Given the description of an element on the screen output the (x, y) to click on. 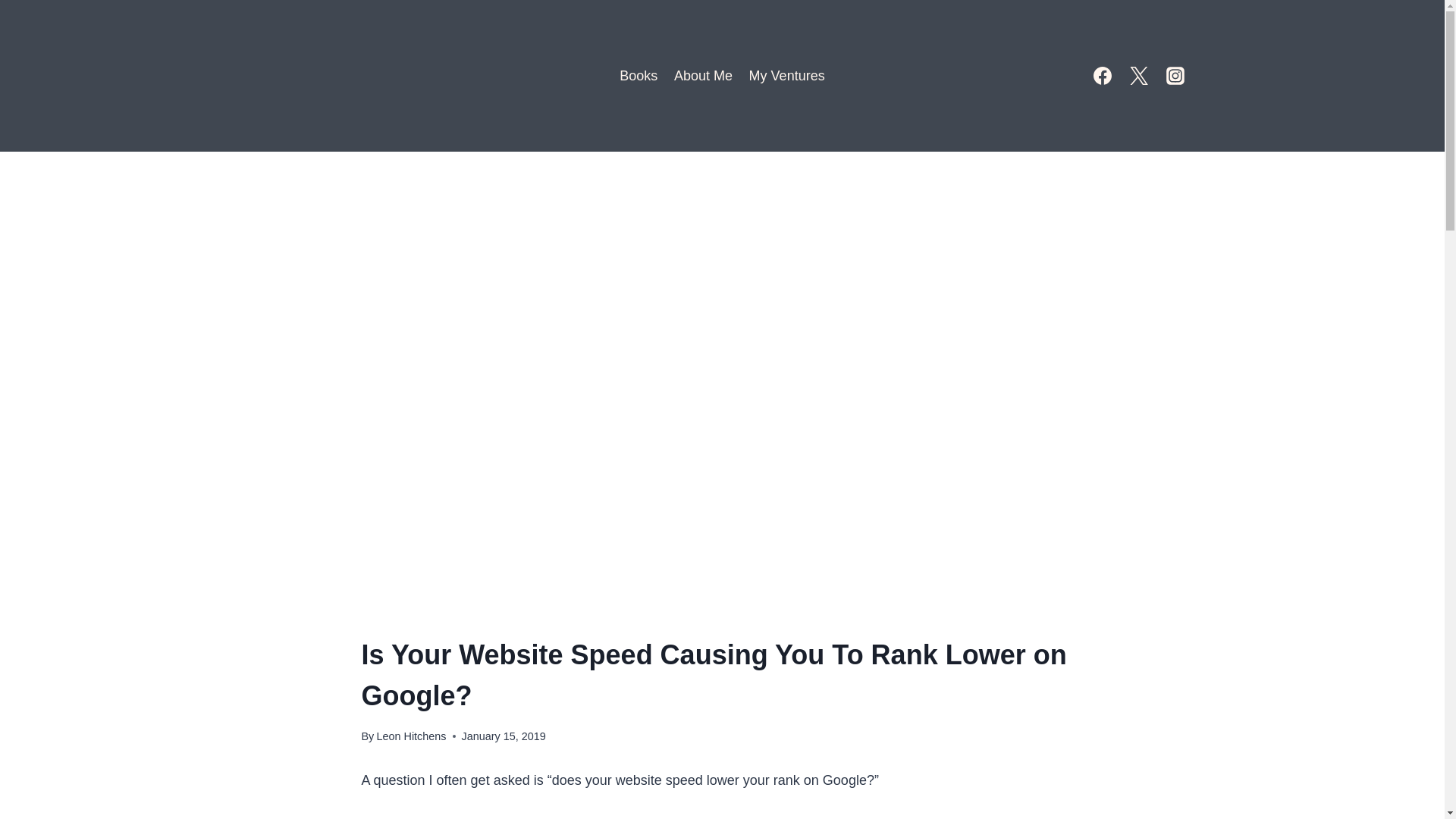
My Ventures (786, 75)
Leon Hitchens (410, 736)
About Me (703, 75)
Books (638, 75)
